Given the description of an element on the screen output the (x, y) to click on. 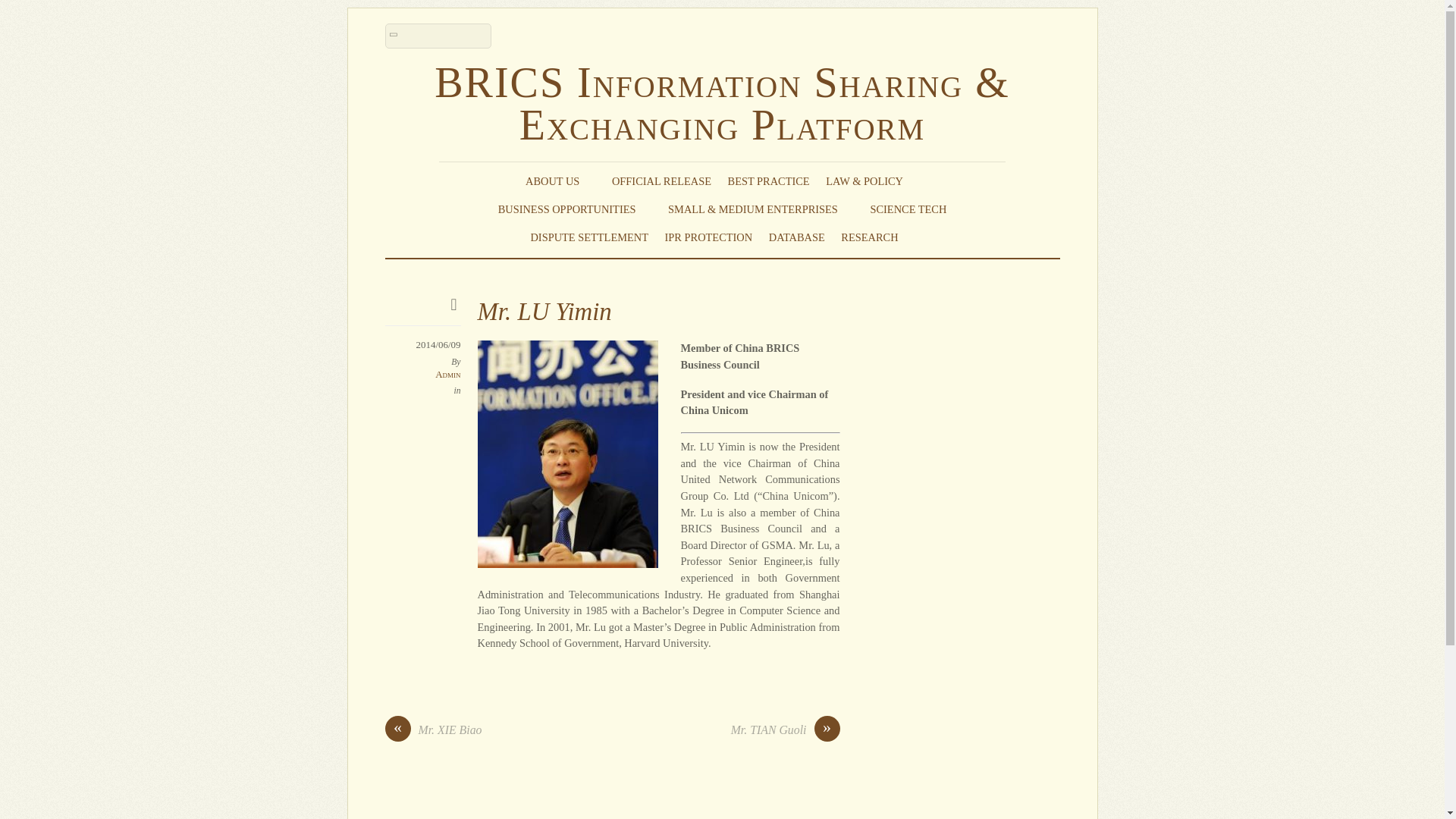
OFFICIAL RELEASE (661, 180)
BUSINESS OPPORTUNITIES (575, 209)
Search (438, 35)
ABOUT US (559, 180)
SCIENCE TECH (908, 209)
RESEARCH (877, 237)
IPR PROTECTION (709, 237)
DISPUTE SETTLEMENT (588, 237)
Mr. LU Yimin (544, 311)
BEST PRACTICE (768, 180)
Admin (447, 374)
DATABASE (796, 237)
